Given the description of an element on the screen output the (x, y) to click on. 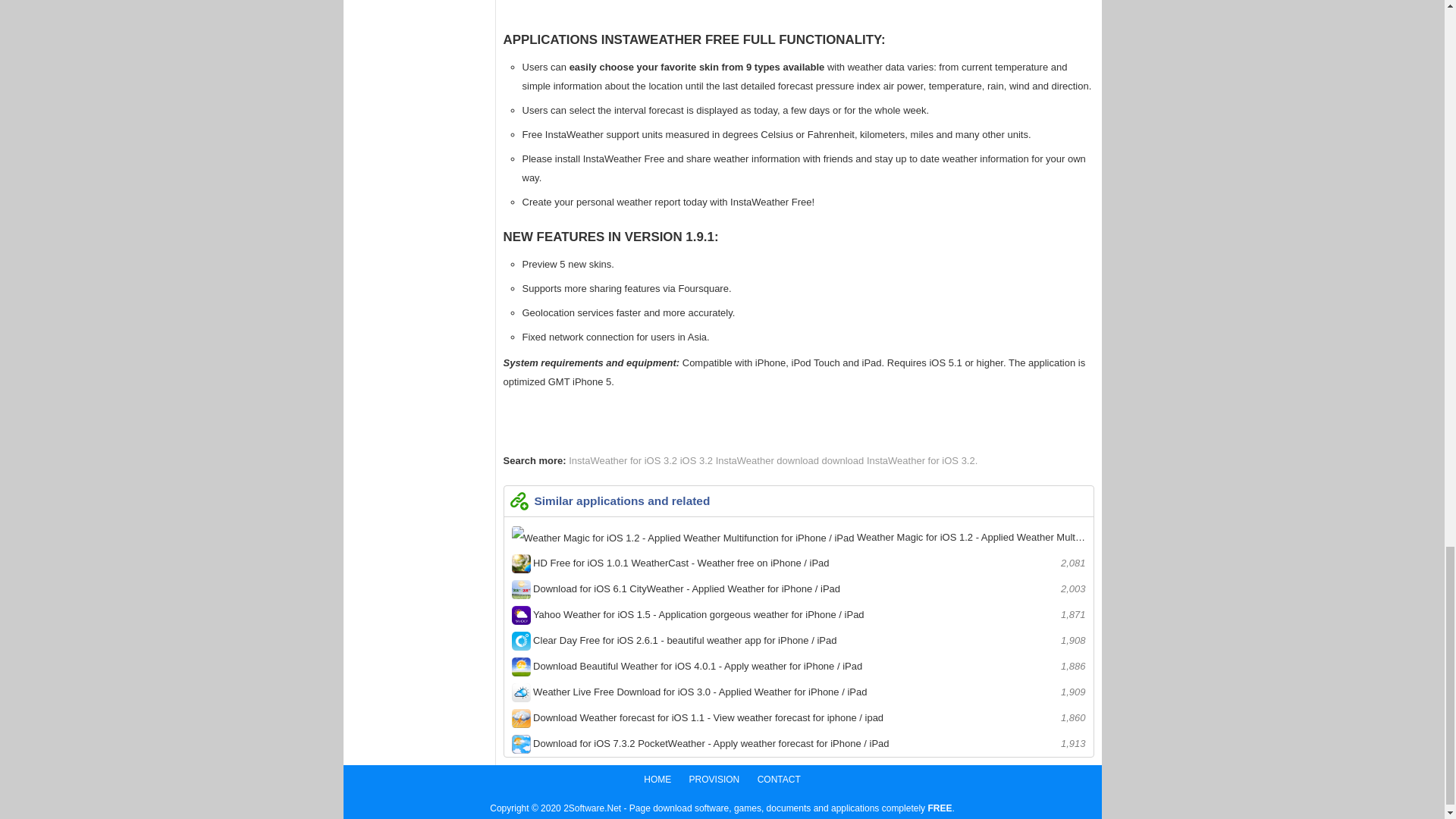
InstaWeather for iOS 3.2 (624, 460)
